Given the description of an element on the screen output the (x, y) to click on. 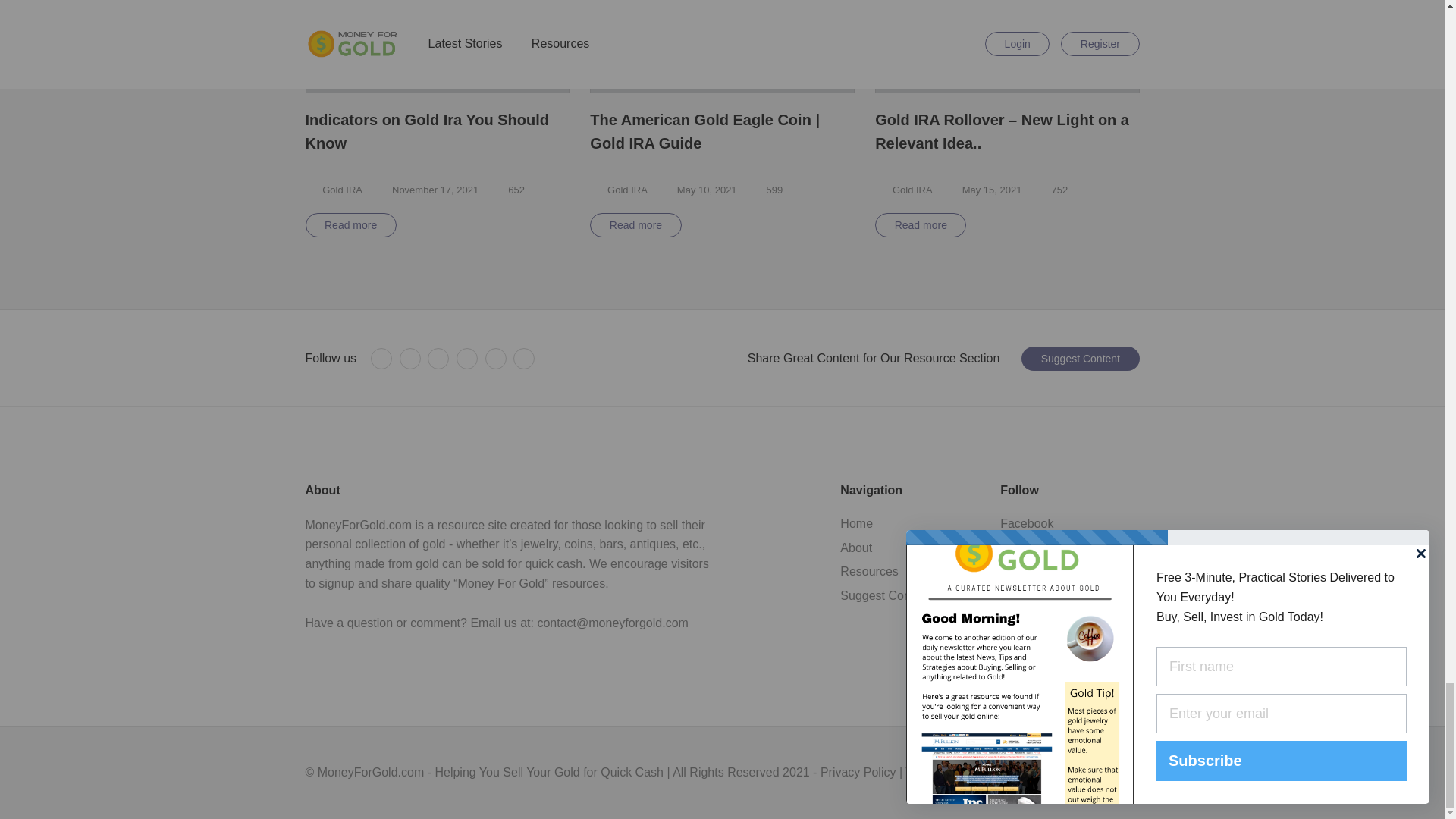
Read more (635, 224)
Gold IRA (341, 189)
Gold IRA (627, 189)
Facebook (381, 358)
Read more (920, 224)
Indicators on Gold Ira You Should Know (436, 131)
Read more (350, 224)
Gold IRA (912, 189)
Terms (333, 189)
